Given the description of an element on the screen output the (x, y) to click on. 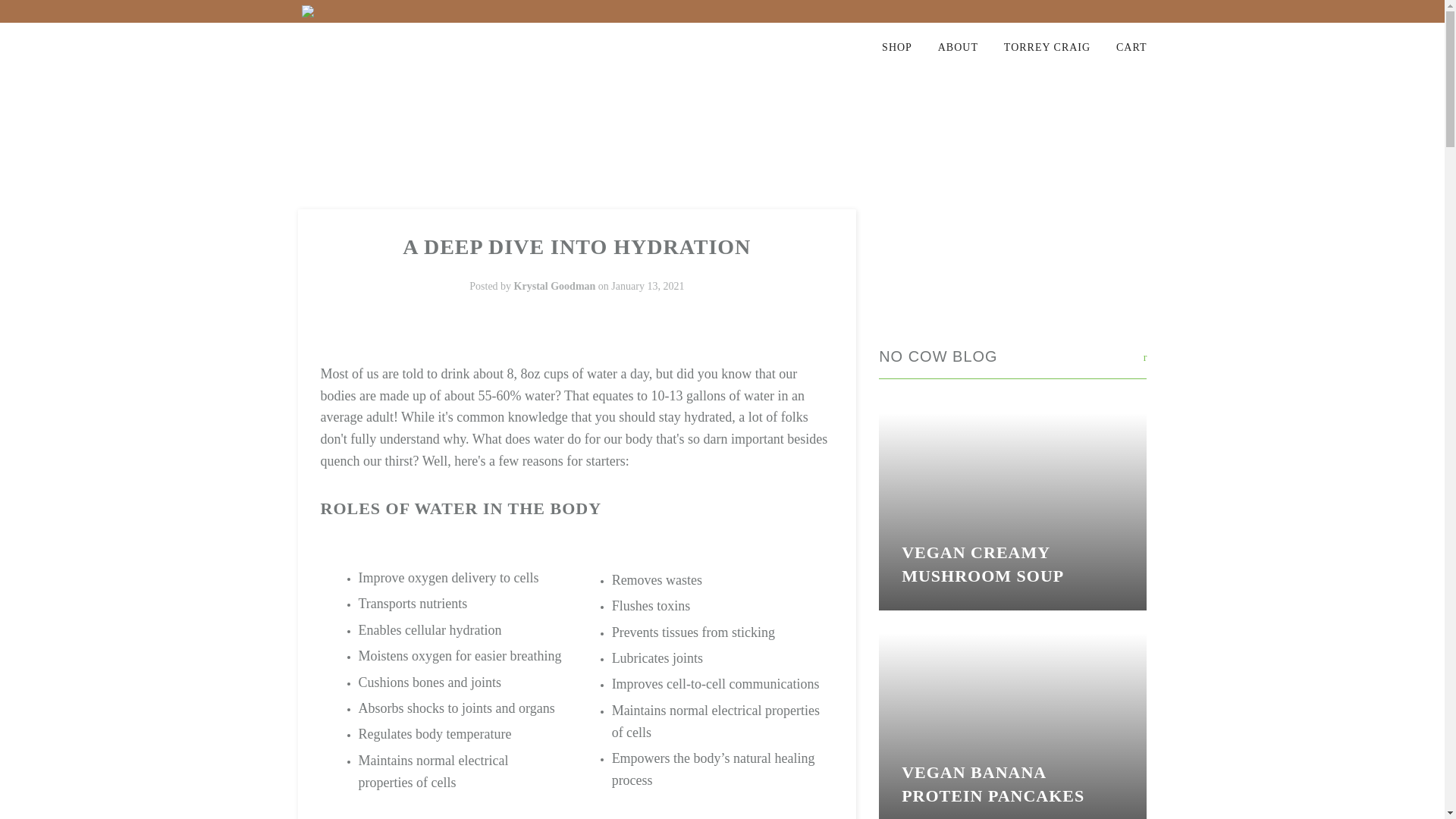
TORREY CRAIG (1035, 47)
ABOUT (946, 47)
CART (1120, 47)
